Given the description of an element on the screen output the (x, y) to click on. 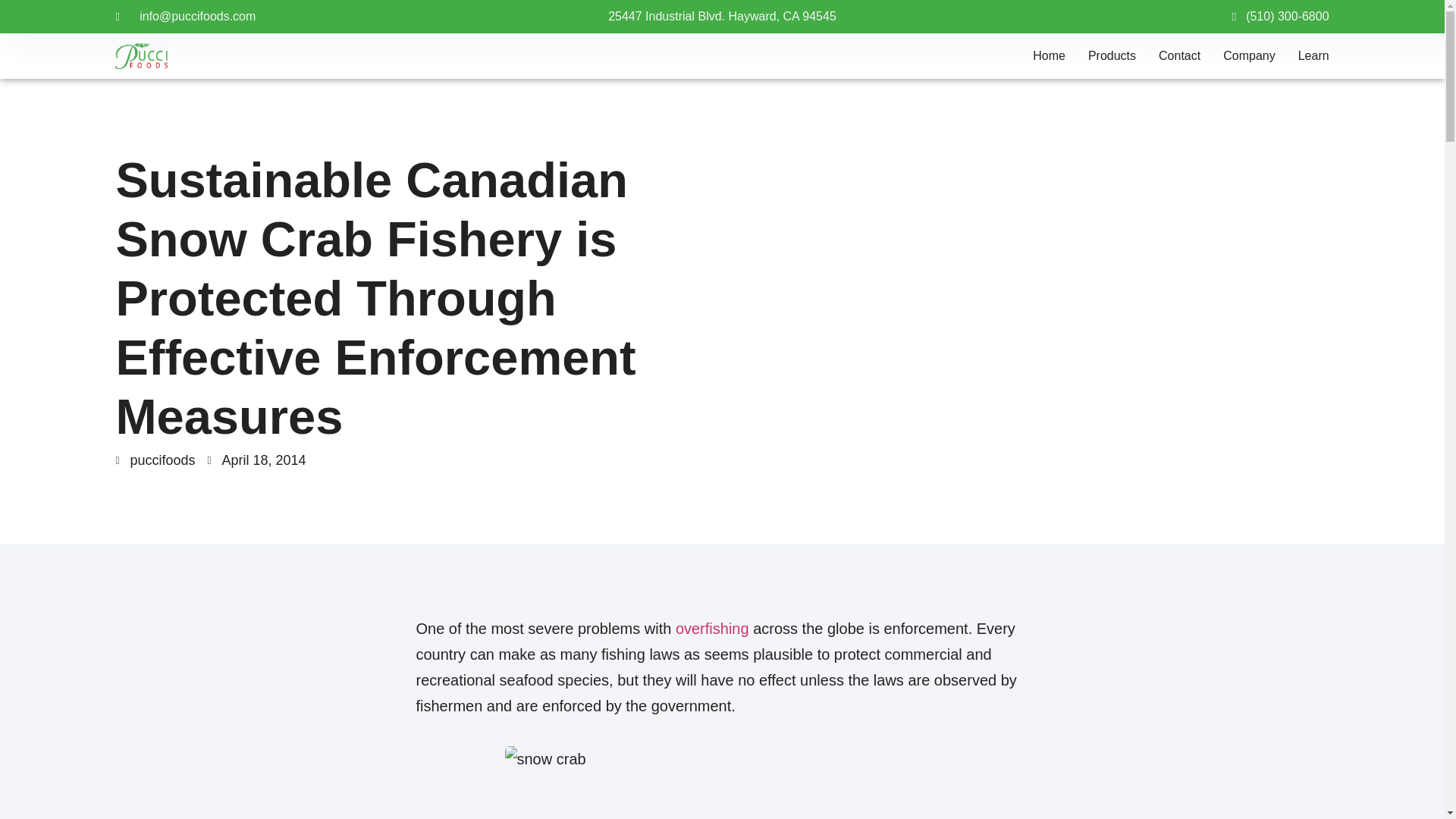
overfishing (712, 628)
puccifoods (155, 460)
April 18, 2014 (255, 460)
Company (1249, 55)
Learn (1313, 55)
Products (1111, 55)
Home (1048, 55)
Contact (1178, 55)
